Given the description of an element on the screen output the (x, y) to click on. 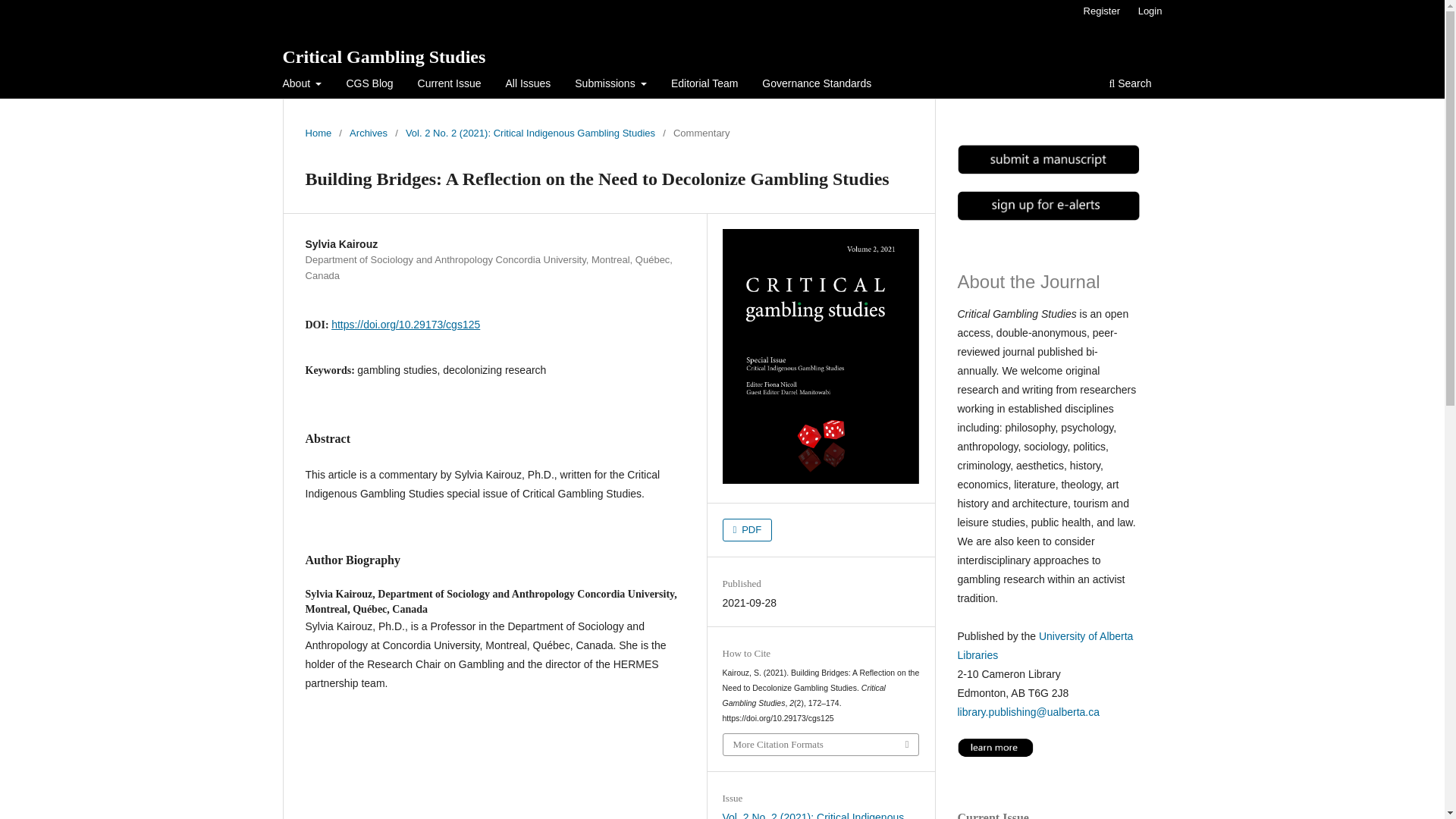
Search (1129, 85)
Critical Gambling Studies (383, 56)
Login (1150, 11)
PDF (747, 529)
About (302, 85)
Governance Standards (816, 85)
More Citation Formats (820, 744)
Editorial Team (703, 85)
Submissions (610, 85)
Home (317, 133)
